Given the description of an element on the screen output the (x, y) to click on. 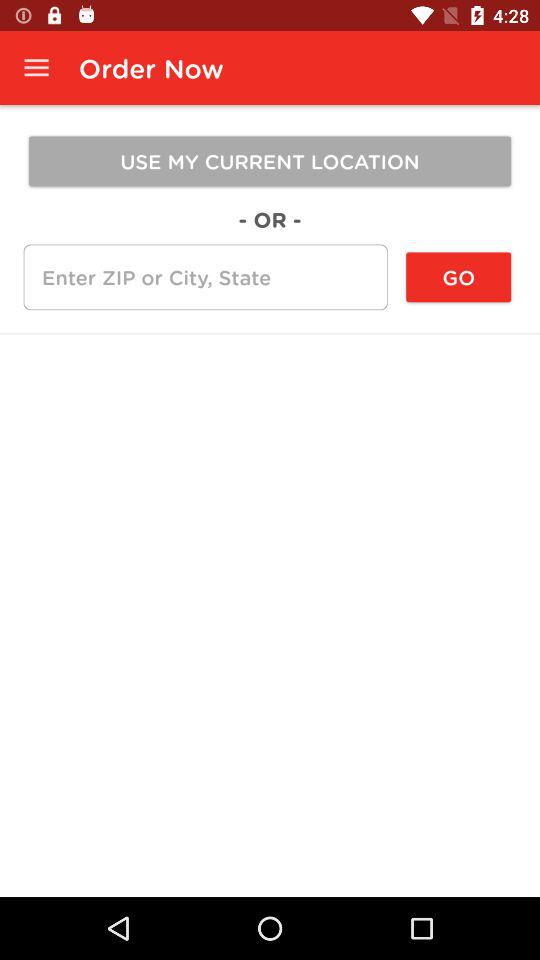
turn off the item to the left of order now app (36, 68)
